Given the description of an element on the screen output the (x, y) to click on. 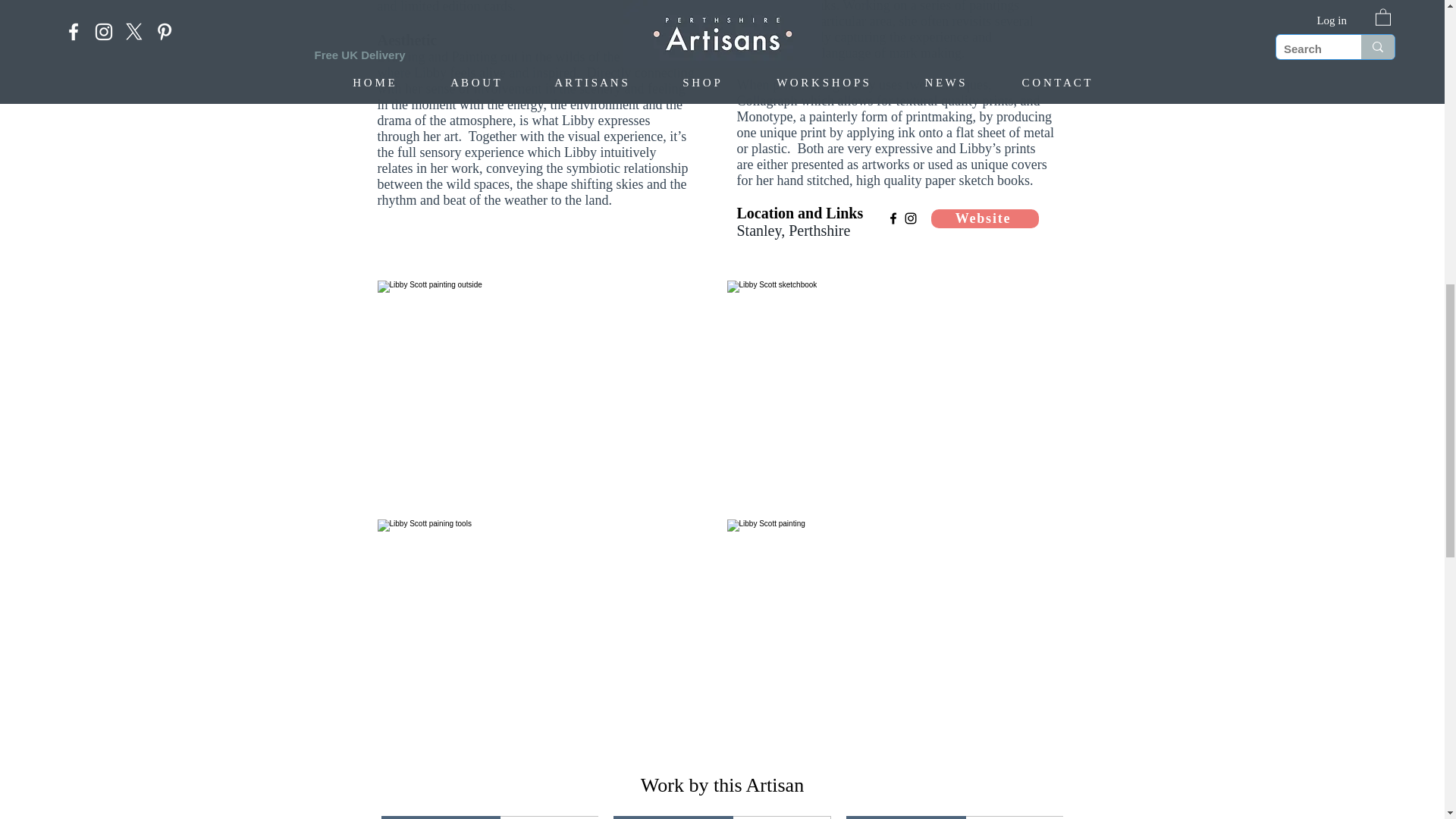
Website (985, 218)
Exclusive One Off Item (721, 817)
Exclusive One Off Item (954, 817)
Exclusive One Off Item (489, 817)
